Given the description of an element on the screen output the (x, y) to click on. 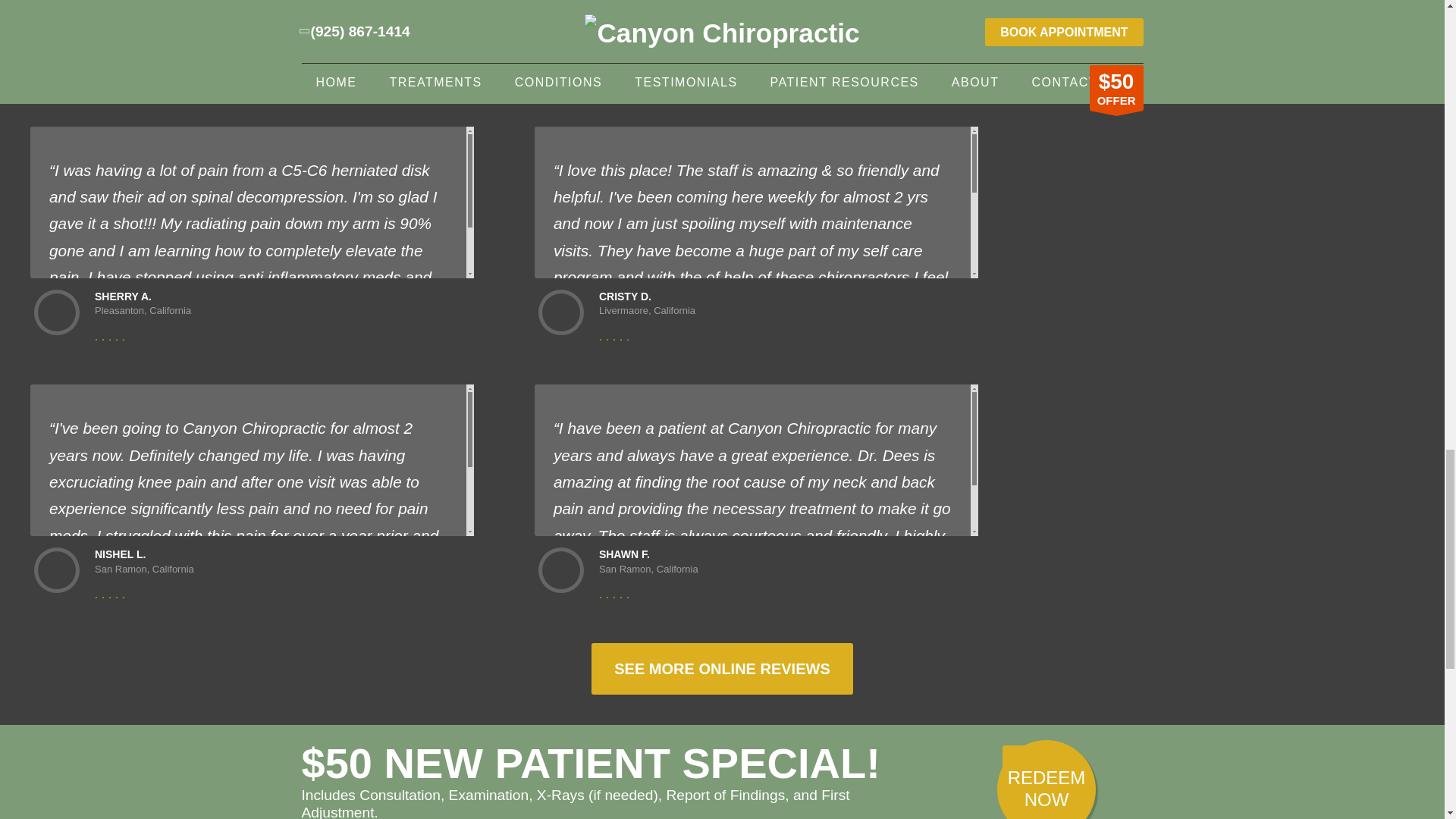
Click here to schedule consult (1046, 779)
Click here to see all online reviews (721, 668)
